Given the description of an element on the screen output the (x, y) to click on. 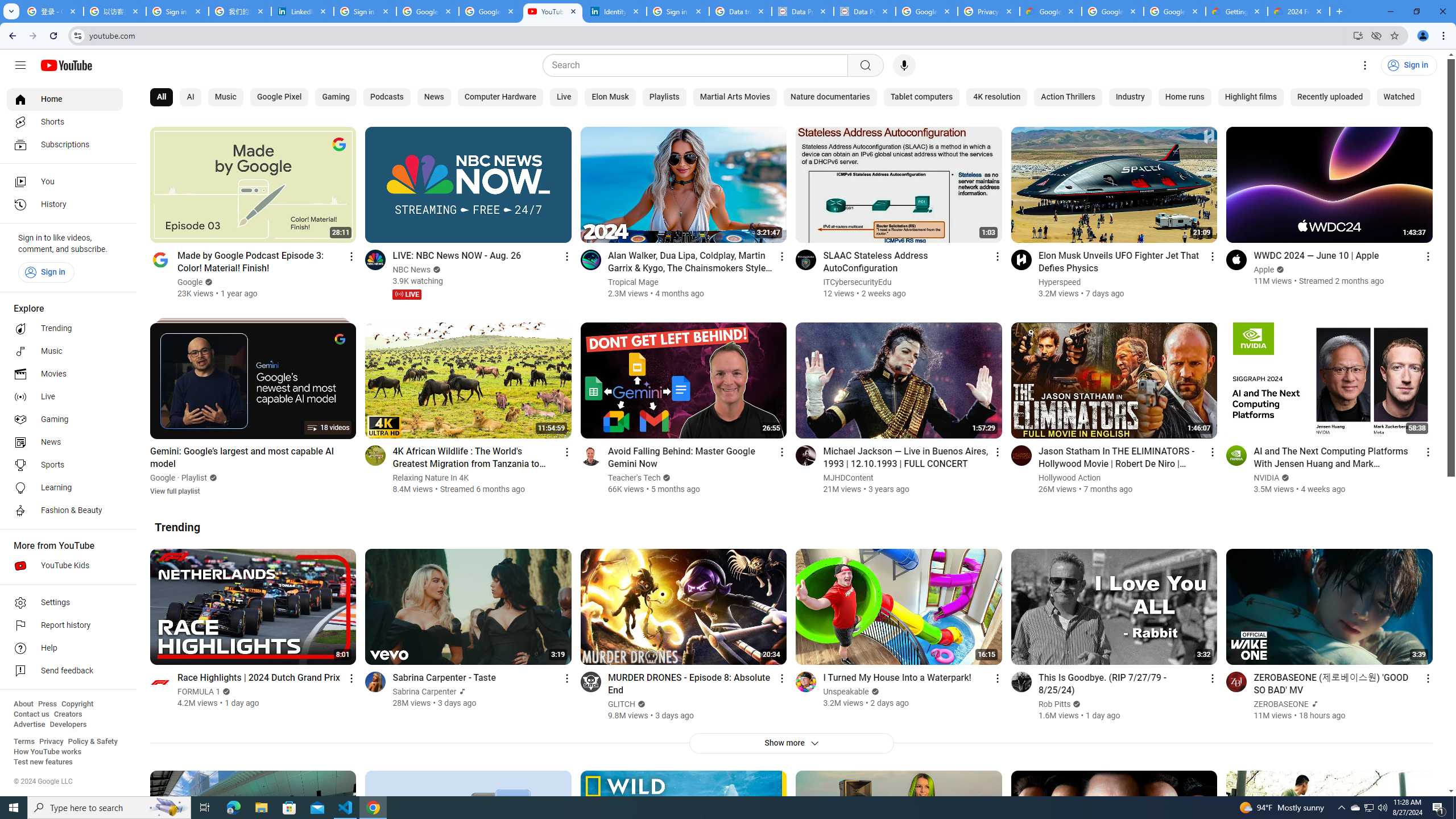
Gaming (64, 419)
Tropical Mage (633, 282)
Apple (1264, 269)
Shorts (64, 121)
Live (64, 396)
Teacher's Tech (634, 477)
MJHDContent (848, 477)
